Given the description of an element on the screen output the (x, y) to click on. 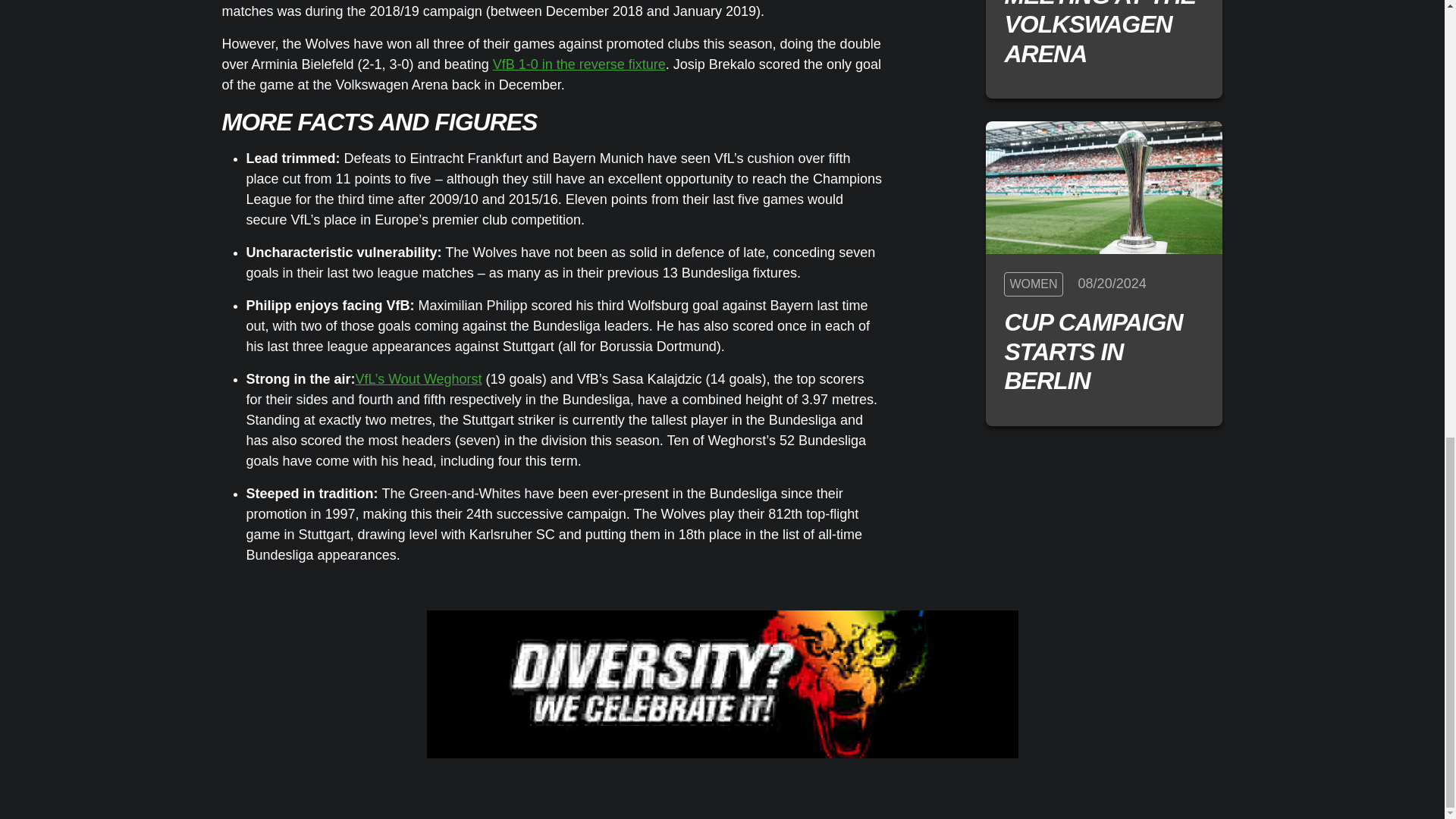
Cup campaign starts in Berlin  (1104, 350)
Cup campaign starts in Berlin  (1104, 187)
Crunch meeting at the Volkswagen Arena (1104, 33)
